Given the description of an element on the screen output the (x, y) to click on. 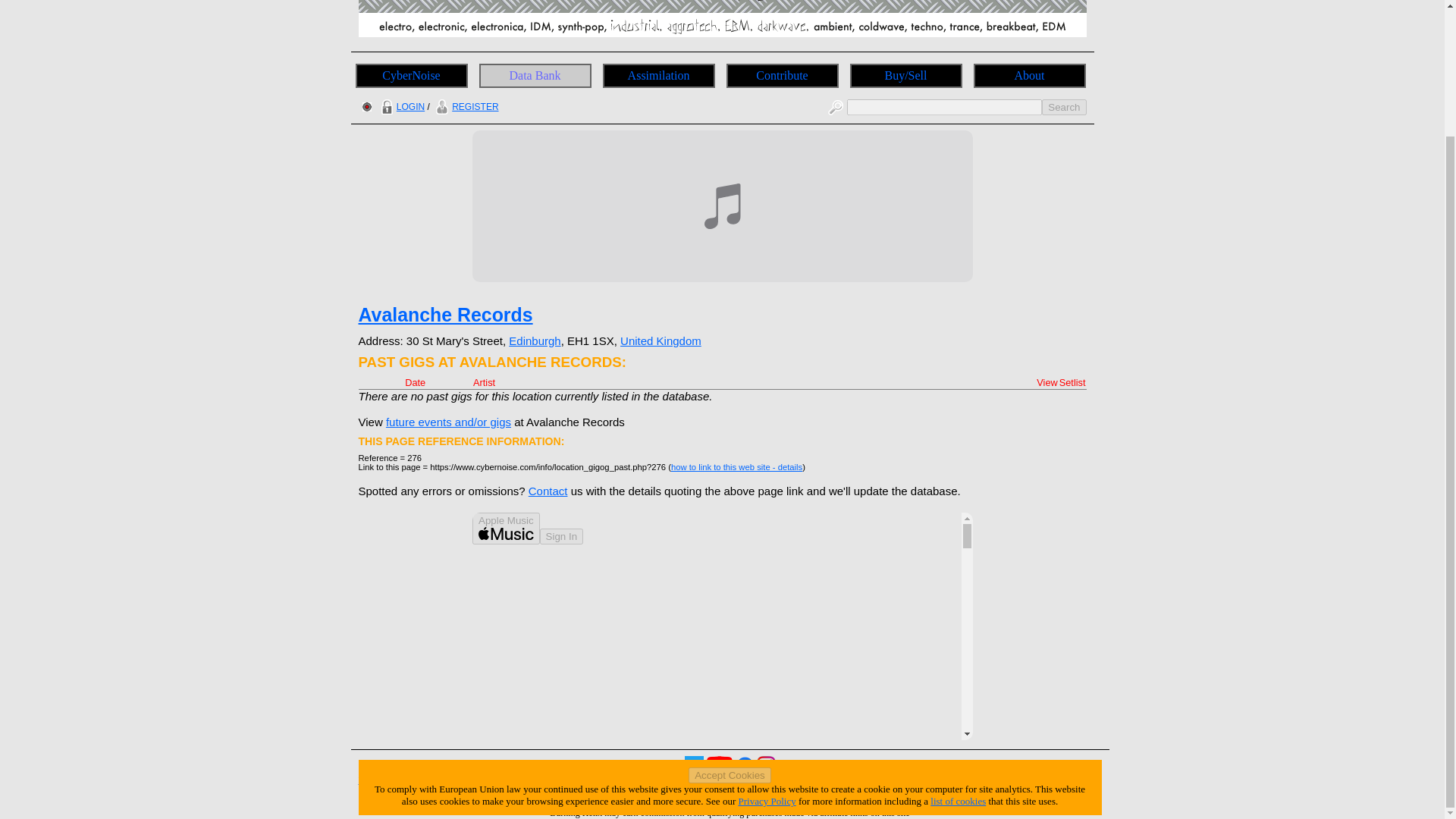
CyberNoise (411, 75)
Data Bank (535, 75)
Contribute (782, 75)
About (1030, 75)
Accept Cookies (729, 622)
Assimilation (658, 75)
Search (1064, 107)
